Given the description of an element on the screen output the (x, y) to click on. 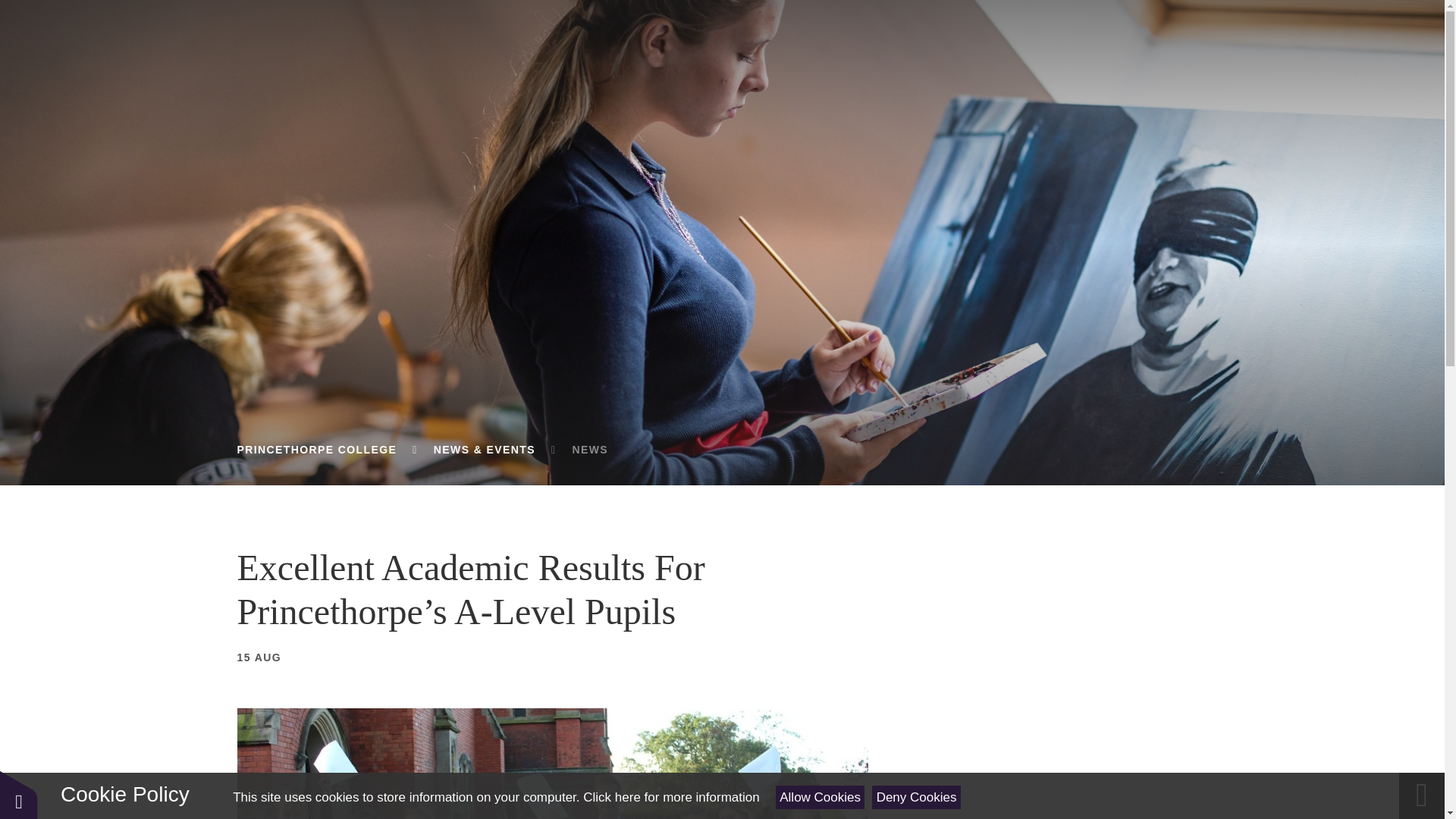
See cookie policy (670, 797)
Deny Cookies (915, 797)
Allow Cookies (820, 797)
